Given the description of an element on the screen output the (x, y) to click on. 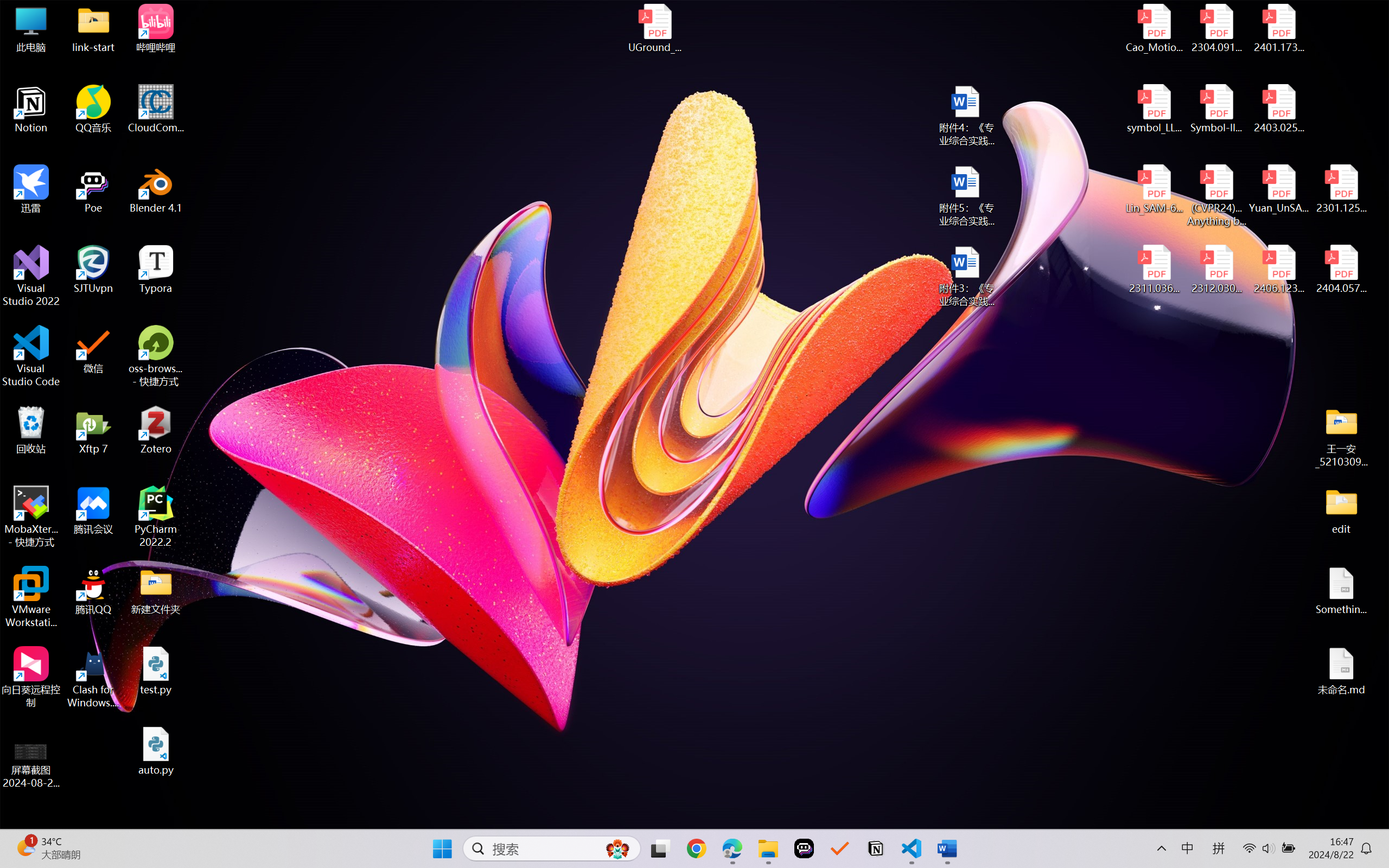
2311.03658v2.pdf (1154, 269)
UGround_paper.pdf (654, 28)
VMware Workstation Pro (31, 597)
